Given the description of an element on the screen output the (x, y) to click on. 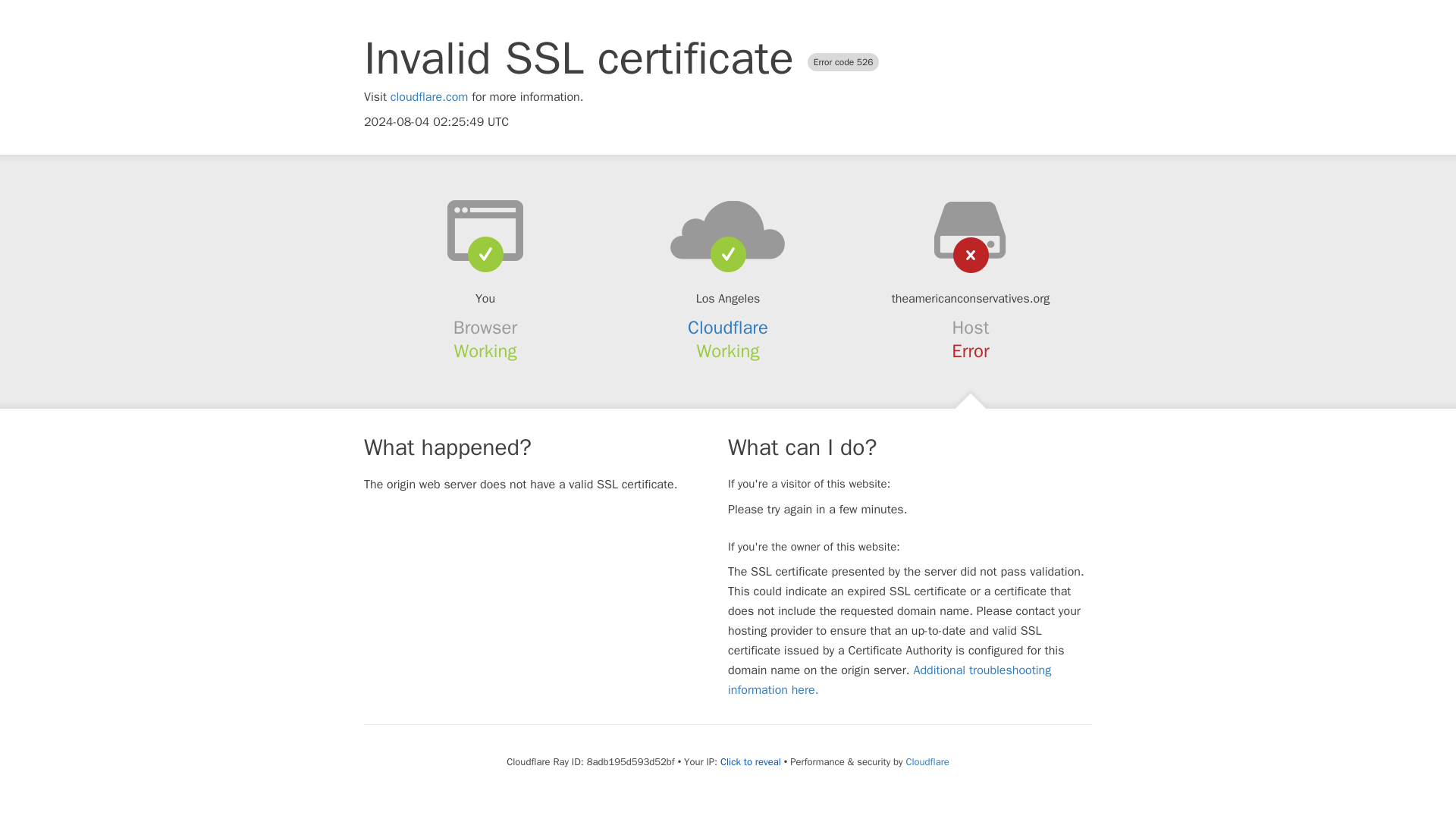
Additional troubleshooting information here. (889, 679)
Cloudflare (727, 327)
Click to reveal (750, 762)
cloudflare.com (429, 96)
Cloudflare (927, 761)
